Given the description of an element on the screen output the (x, y) to click on. 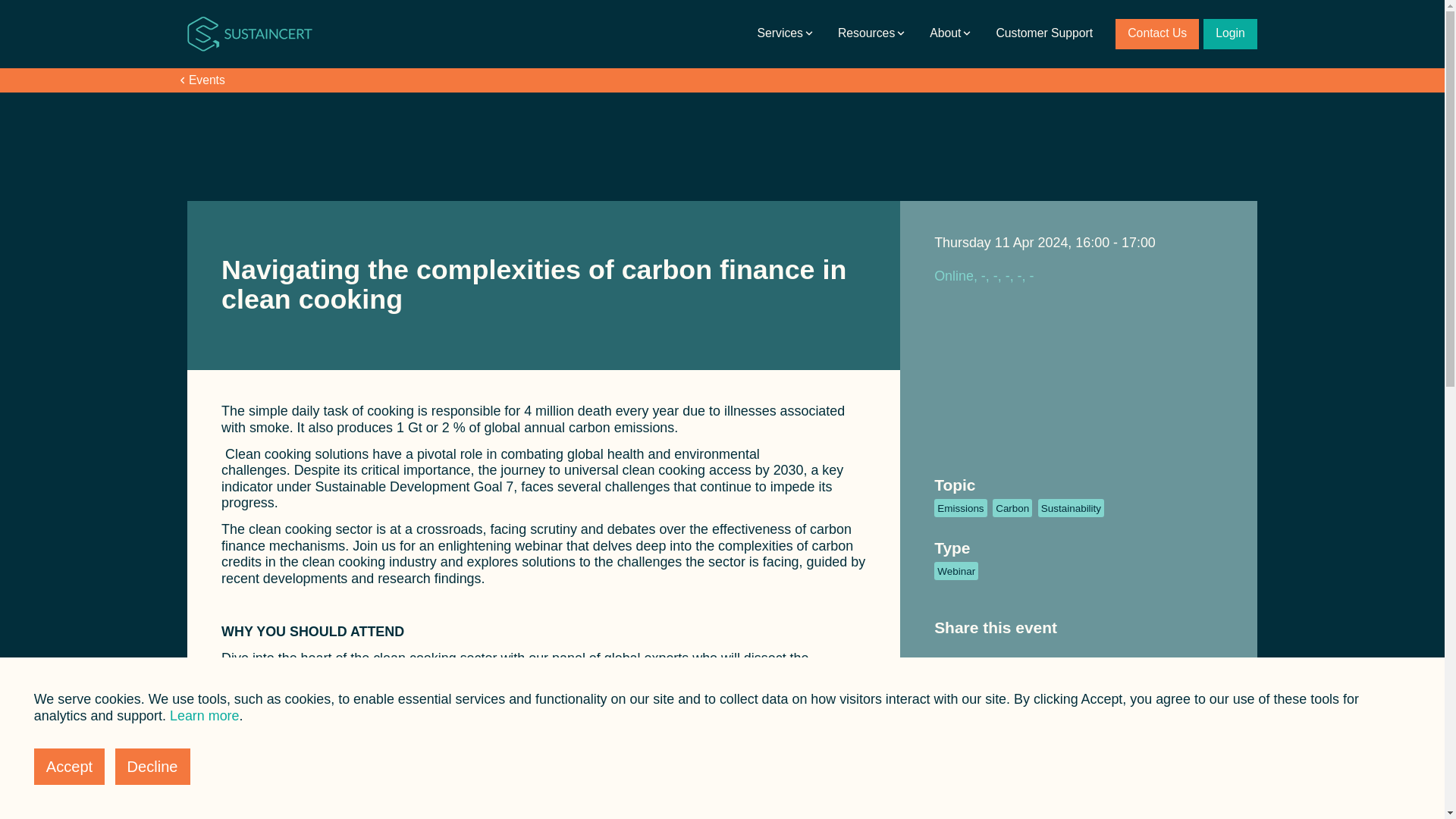
About (951, 33)
Publish this article pn LinkedIn (943, 656)
Email this article to someone (997, 656)
Login (1230, 33)
Tweet about this article (969, 656)
Services (786, 33)
Resources (872, 33)
Learn more (205, 715)
Accept (68, 766)
Decline (152, 766)
Contact Us (1156, 33)
Customer Support (1044, 33)
